Given the description of an element on the screen output the (x, y) to click on. 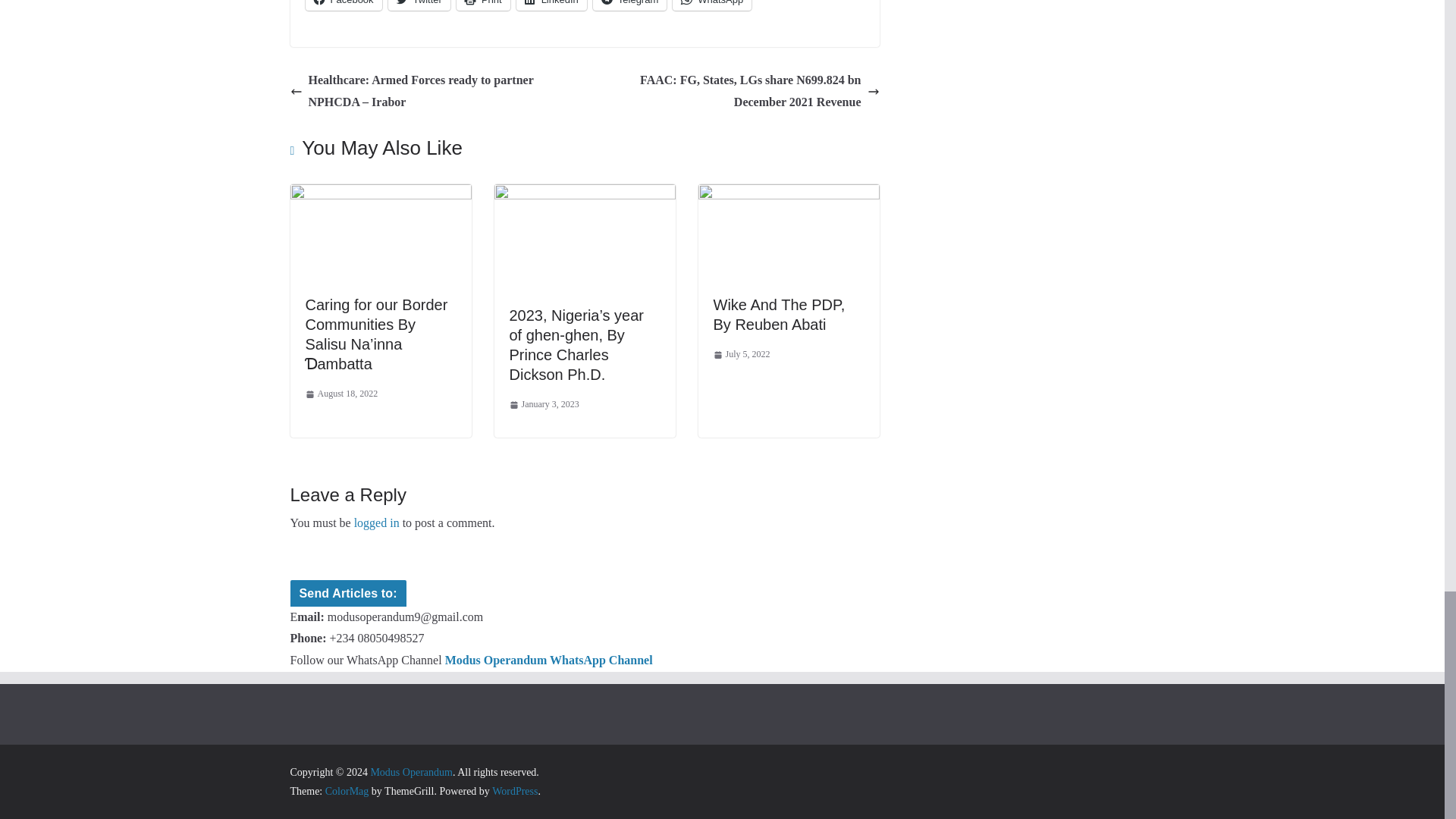
January 3, 2023 (544, 404)
LinkedIn (551, 5)
August 18, 2022 (340, 393)
Click to share on LinkedIn (551, 5)
Twitter (418, 5)
WhatsApp (711, 5)
Print (484, 5)
Click to print (484, 5)
Click to share on WhatsApp (711, 5)
